Given the description of an element on the screen output the (x, y) to click on. 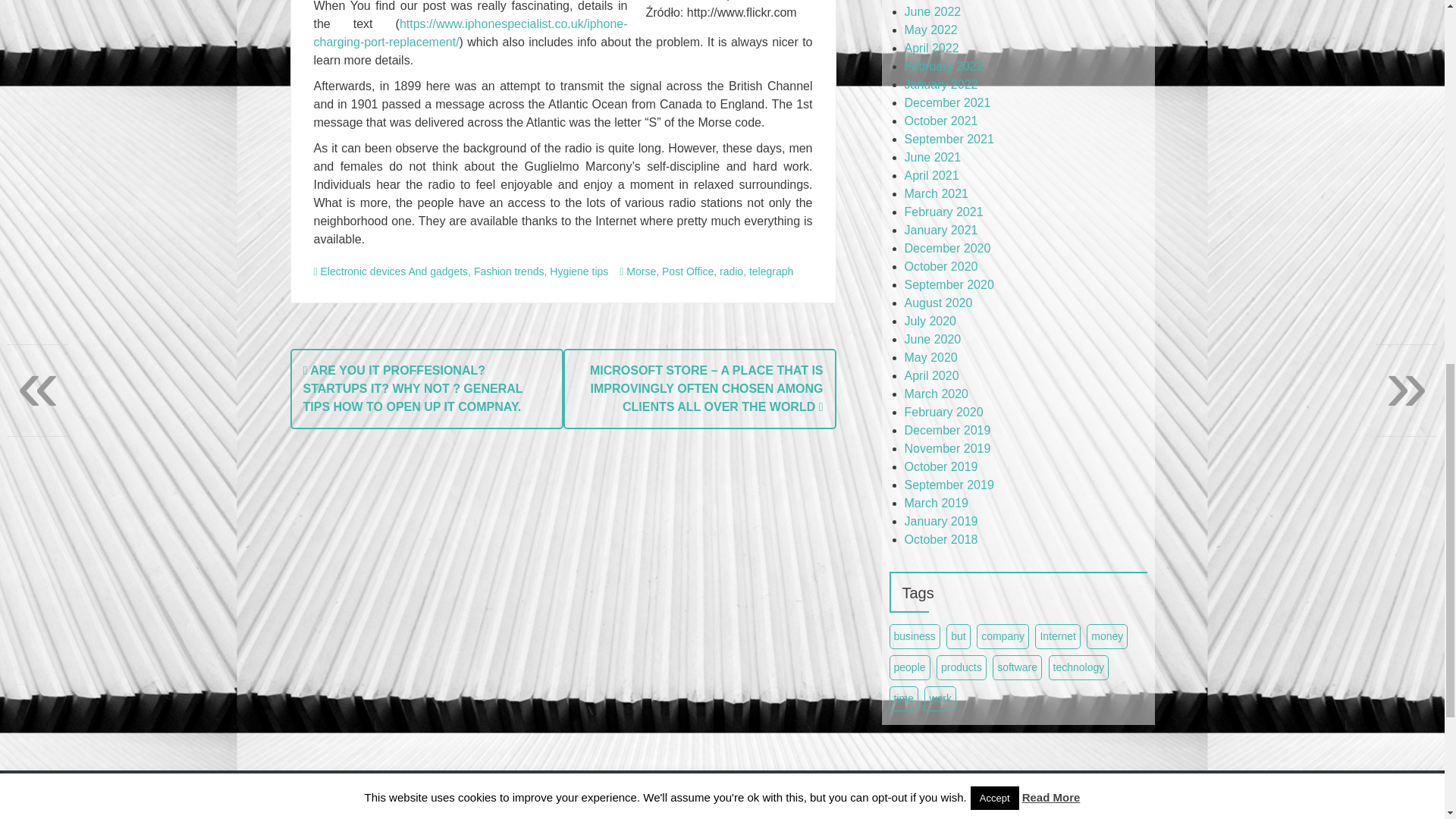
Morse (641, 271)
April 2022 (931, 47)
radio (730, 271)
May 2022 (930, 29)
Post Office (687, 271)
Electronic devices And gadgets (394, 271)
Hygiene tips (579, 271)
telegraph (771, 271)
Fashion trends (509, 271)
